Given the description of an element on the screen output the (x, y) to click on. 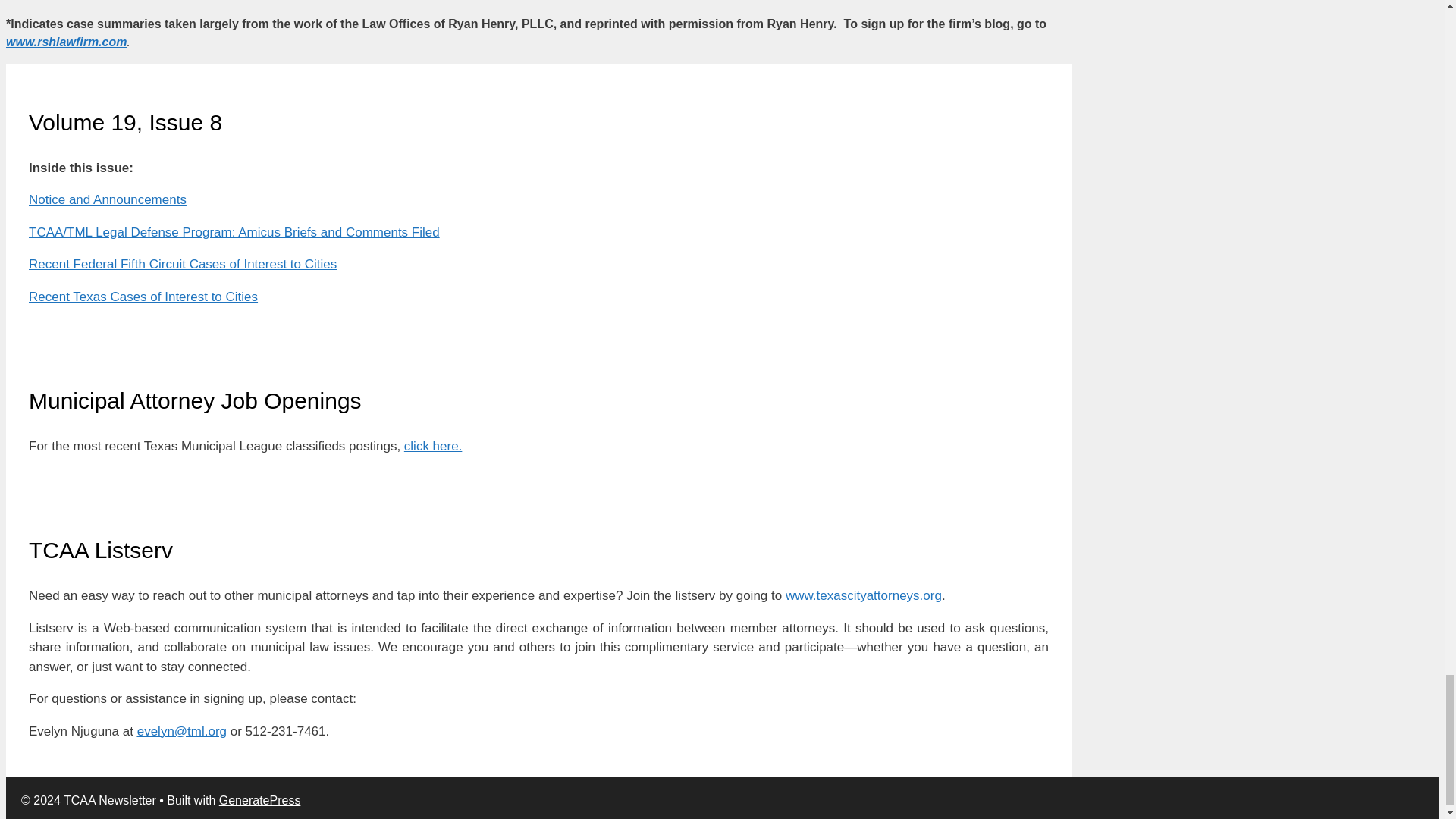
Notice and Announcements (107, 199)
www.texascityattorneys.org (864, 595)
Recent Federal Fifth Circuit Cases of Interest to Cities (182, 264)
GeneratePress (260, 799)
Recent Texas Cases of Interest to Cities (143, 296)
click here. (433, 445)
www.rshlawfirm.com (65, 42)
